Given the description of an element on the screen output the (x, y) to click on. 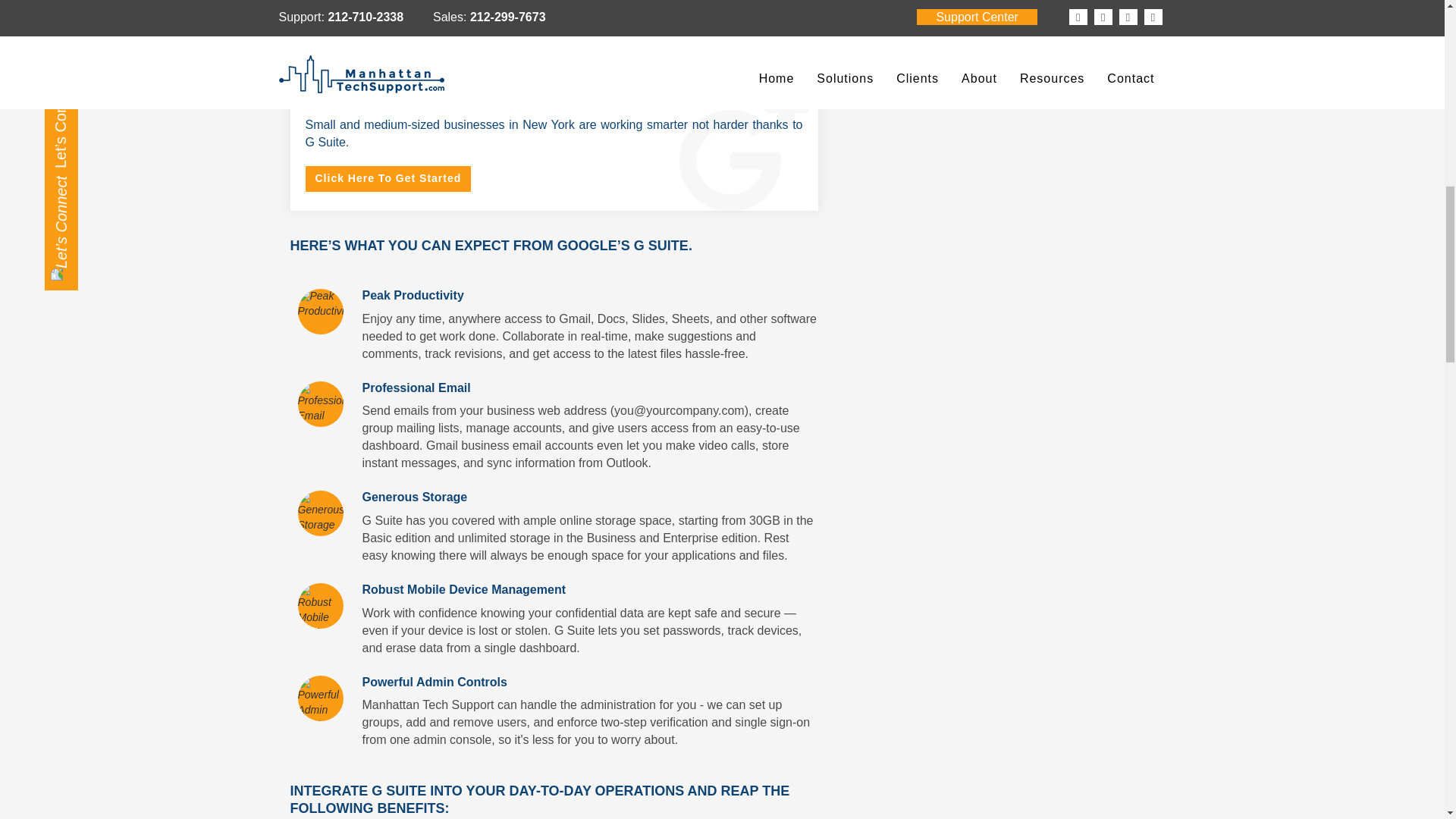
Click Here To Get Started (387, 178)
Generous Storage (319, 511)
Peak Productivity (319, 304)
Professional Email (319, 402)
